Given the description of an element on the screen output the (x, y) to click on. 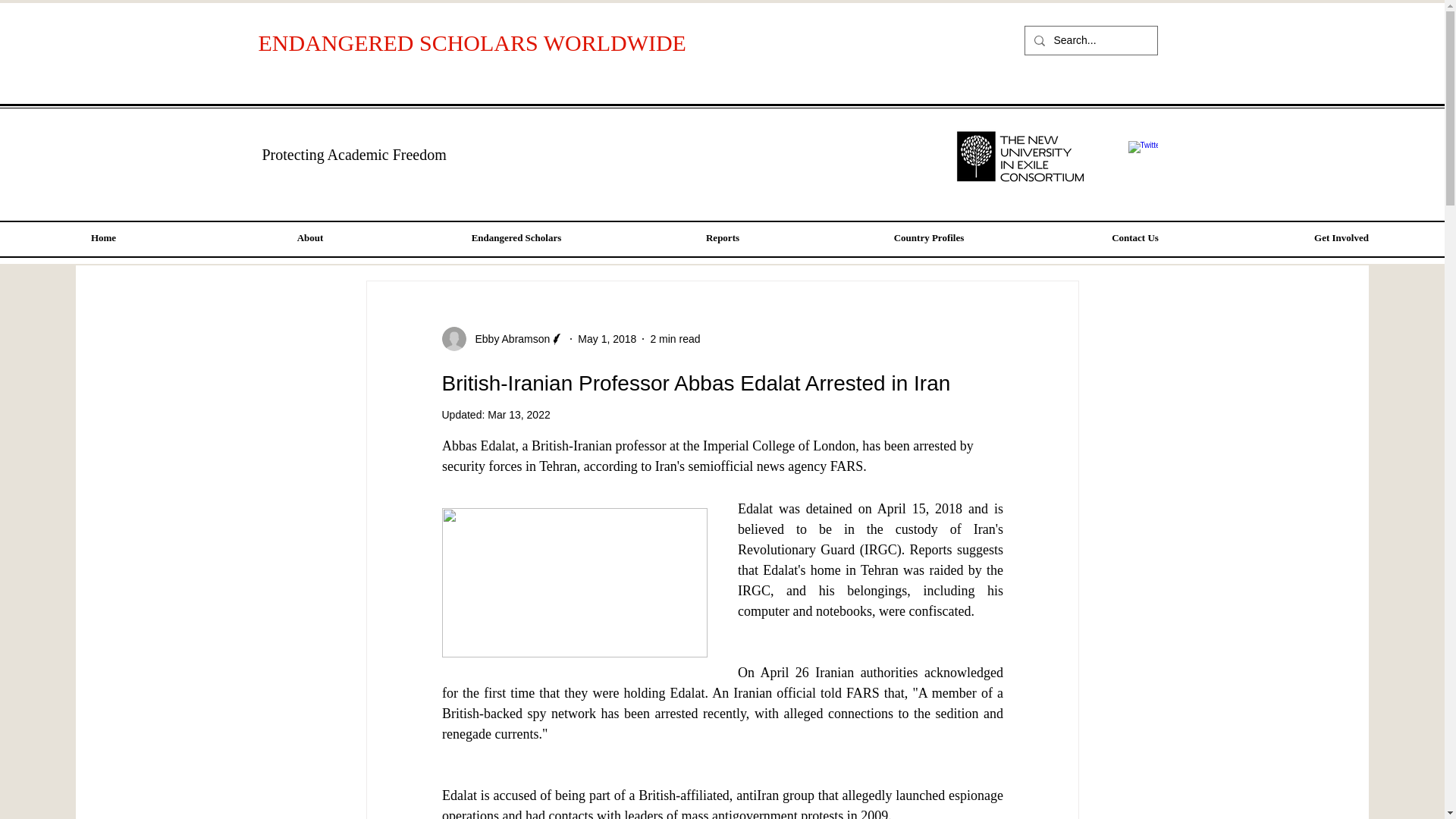
ENDANGERED  (338, 42)
Ebby Abramson (507, 338)
SCHOLARS  (481, 42)
Home (103, 237)
May 1, 2018 (607, 337)
2 min read (674, 337)
About (309, 237)
Reports (722, 237)
Mar 13, 2022 (518, 414)
WORLDWIDE  (618, 42)
